Given the description of an element on the screen output the (x, y) to click on. 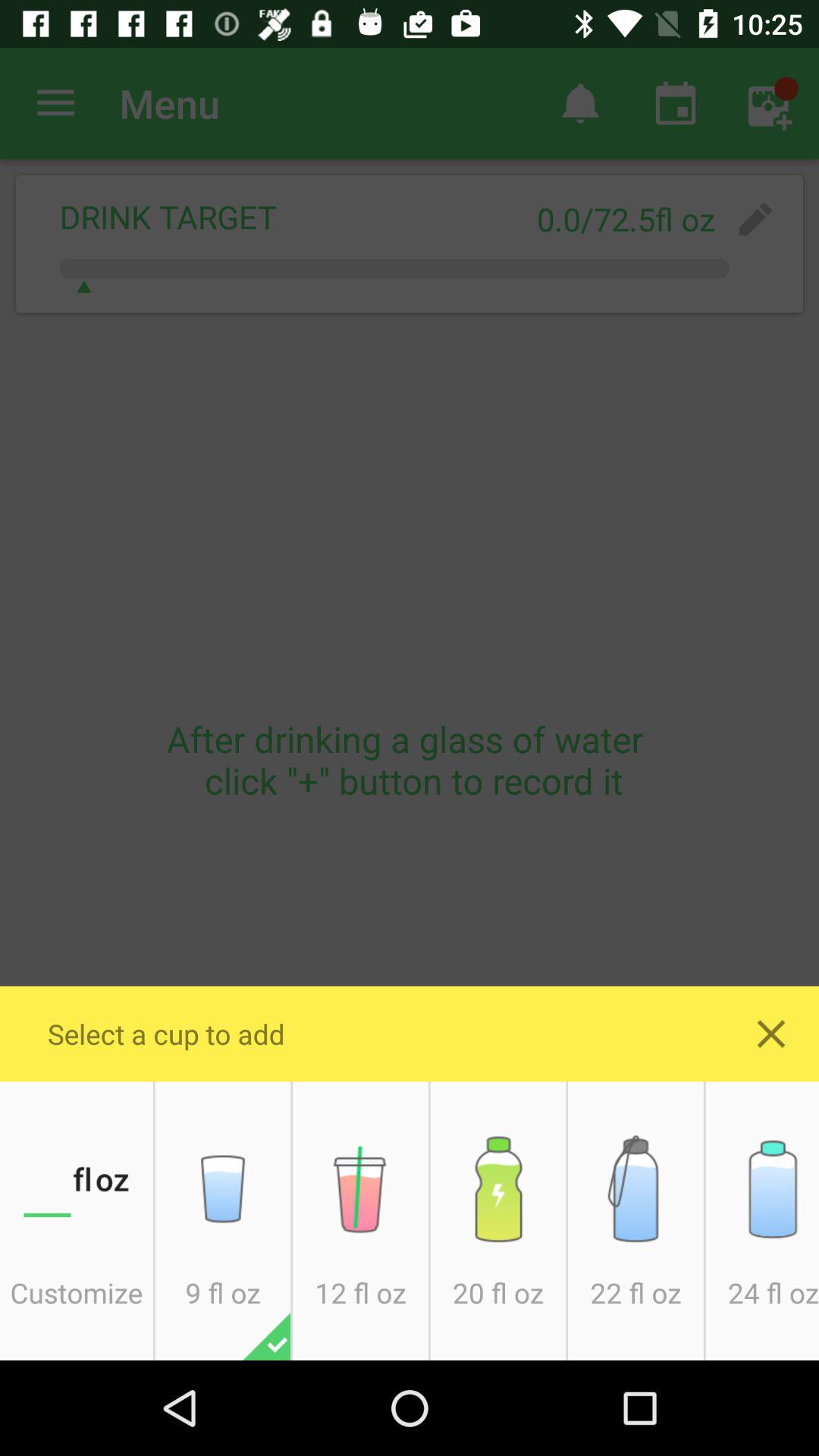
exit out of the menu (771, 1033)
